Given the description of an element on the screen output the (x, y) to click on. 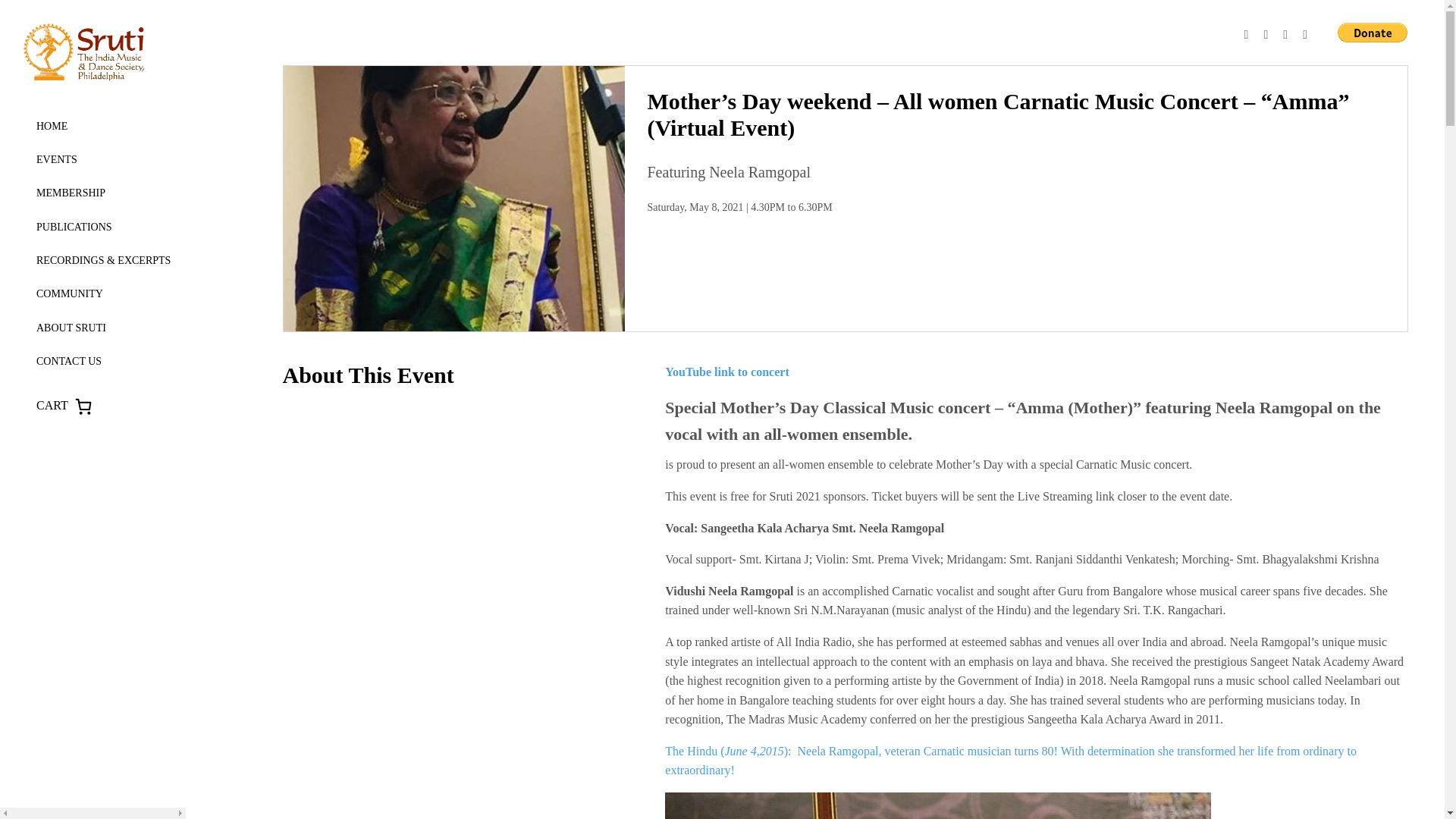
MEMBERSHIP (70, 193)
PayPal - The safer, easier way to pay online! (1372, 32)
EVENTS (56, 159)
HOME (51, 125)
